Given the description of an element on the screen output the (x, y) to click on. 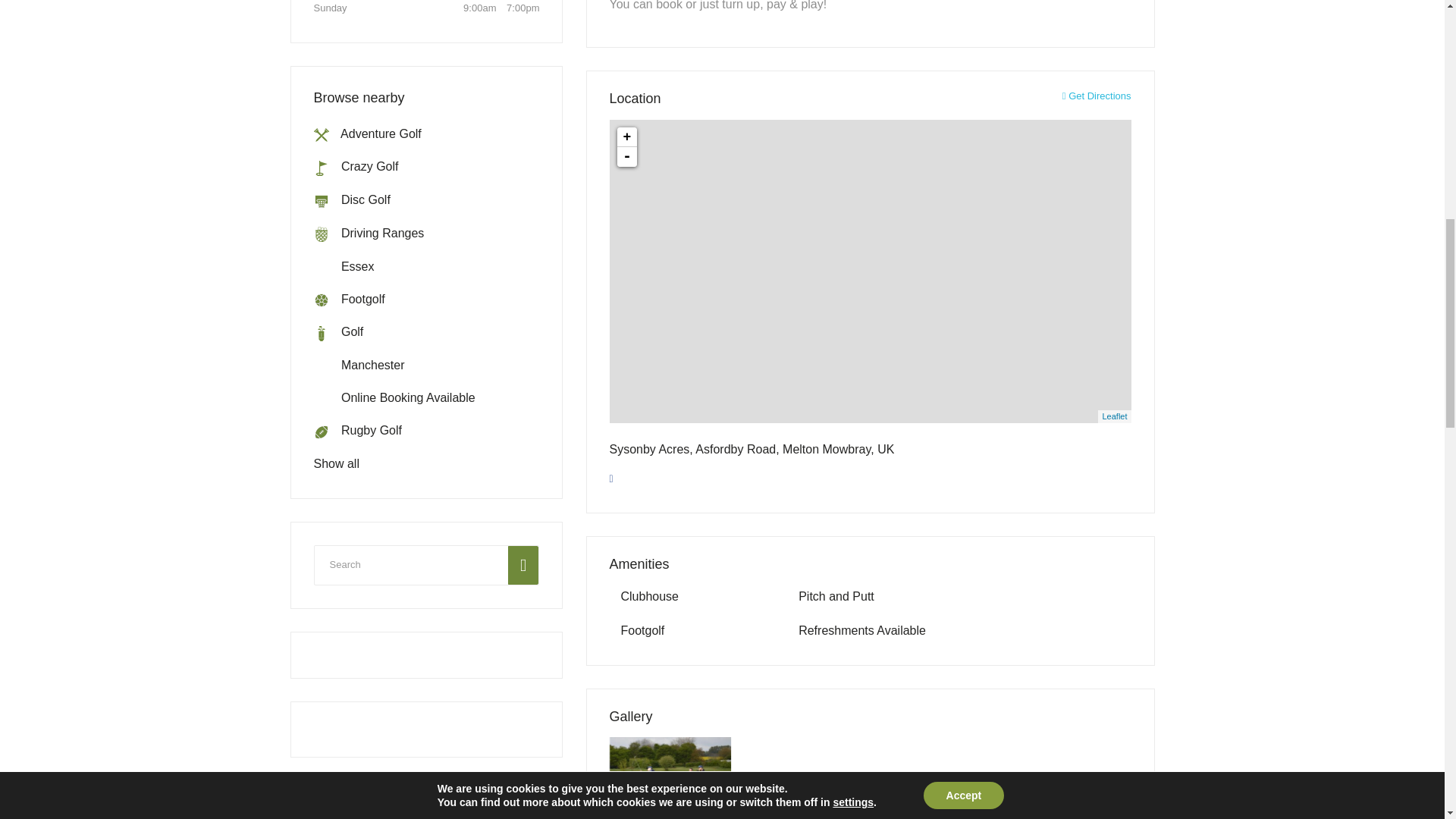
A JS library for interactive maps (1114, 415)
Zoom out (627, 157)
Zoom in (627, 137)
